Given the description of an element on the screen output the (x, y) to click on. 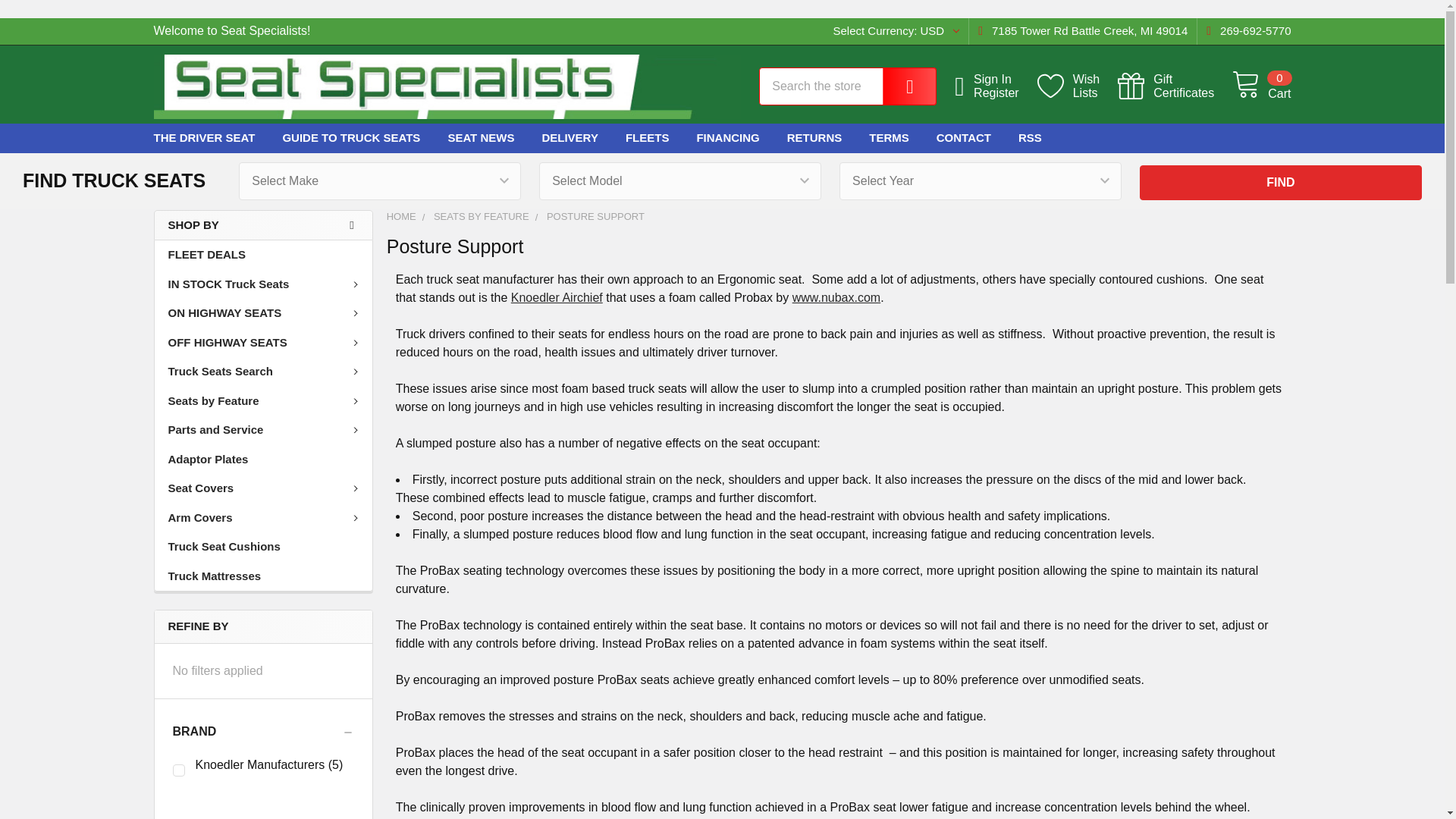
269-692-5770 (1243, 31)
Register (1005, 92)
Sign In (1005, 79)
Seat Specialists (446, 86)
Cart (1260, 86)
Wish Lists (1077, 86)
Search (1077, 86)
Find (899, 86)
Gift Certificates (891, 31)
Search (1281, 182)
